Given the description of an element on the screen output the (x, y) to click on. 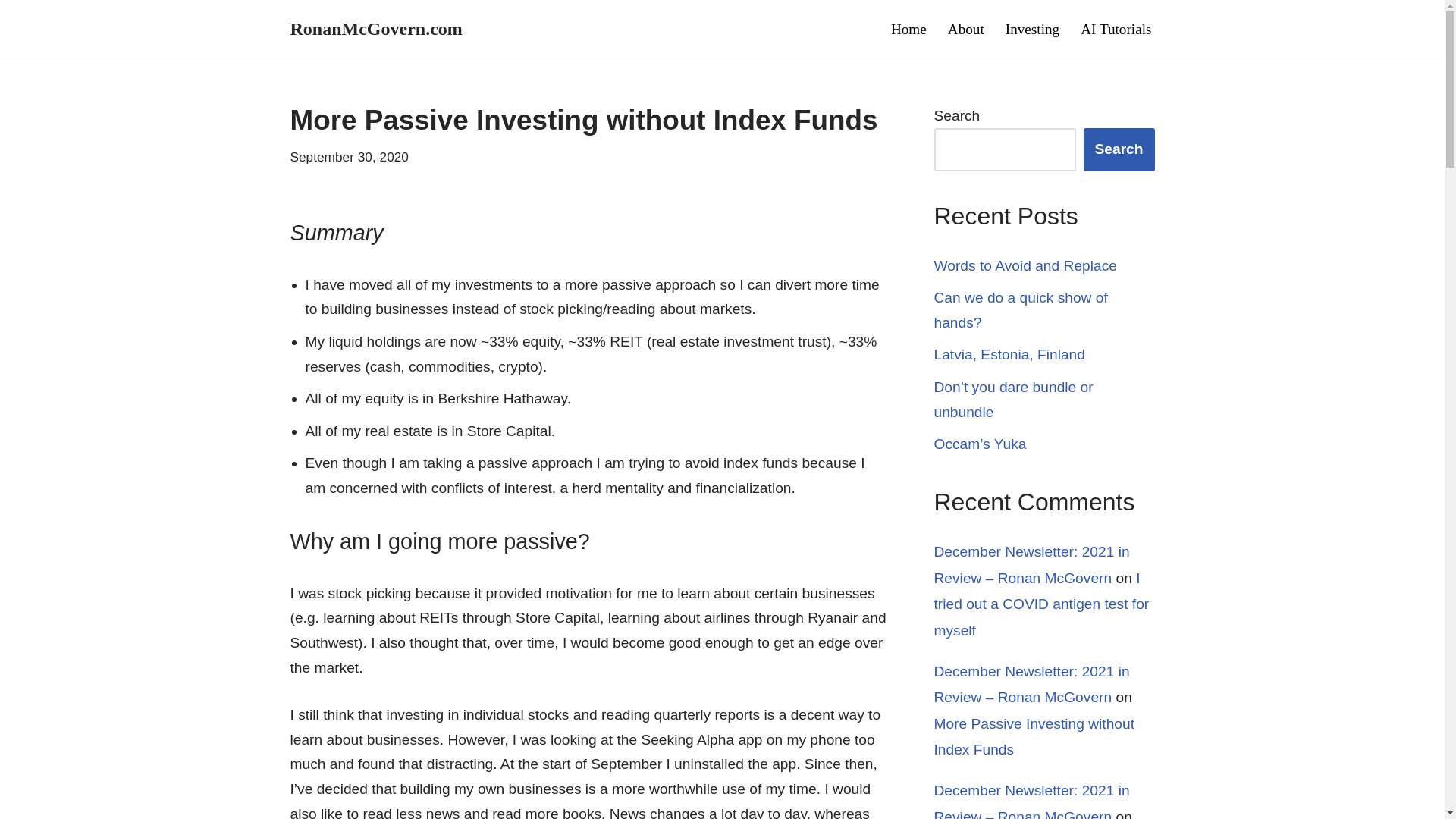
AI Tutorials (1115, 29)
Words to Avoid and Replace (1025, 265)
Investing (1032, 29)
About (965, 29)
Home (908, 29)
More Passive Investing without Index Funds (1034, 736)
Skip to content (11, 31)
I tried out a COVID antigen test for myself (1042, 604)
Can we do a quick show of hands? (1021, 309)
Latvia, Estonia, Finland (1009, 354)
Search (1118, 149)
RonanMcGovern.com (375, 29)
